Given the description of an element on the screen output the (x, y) to click on. 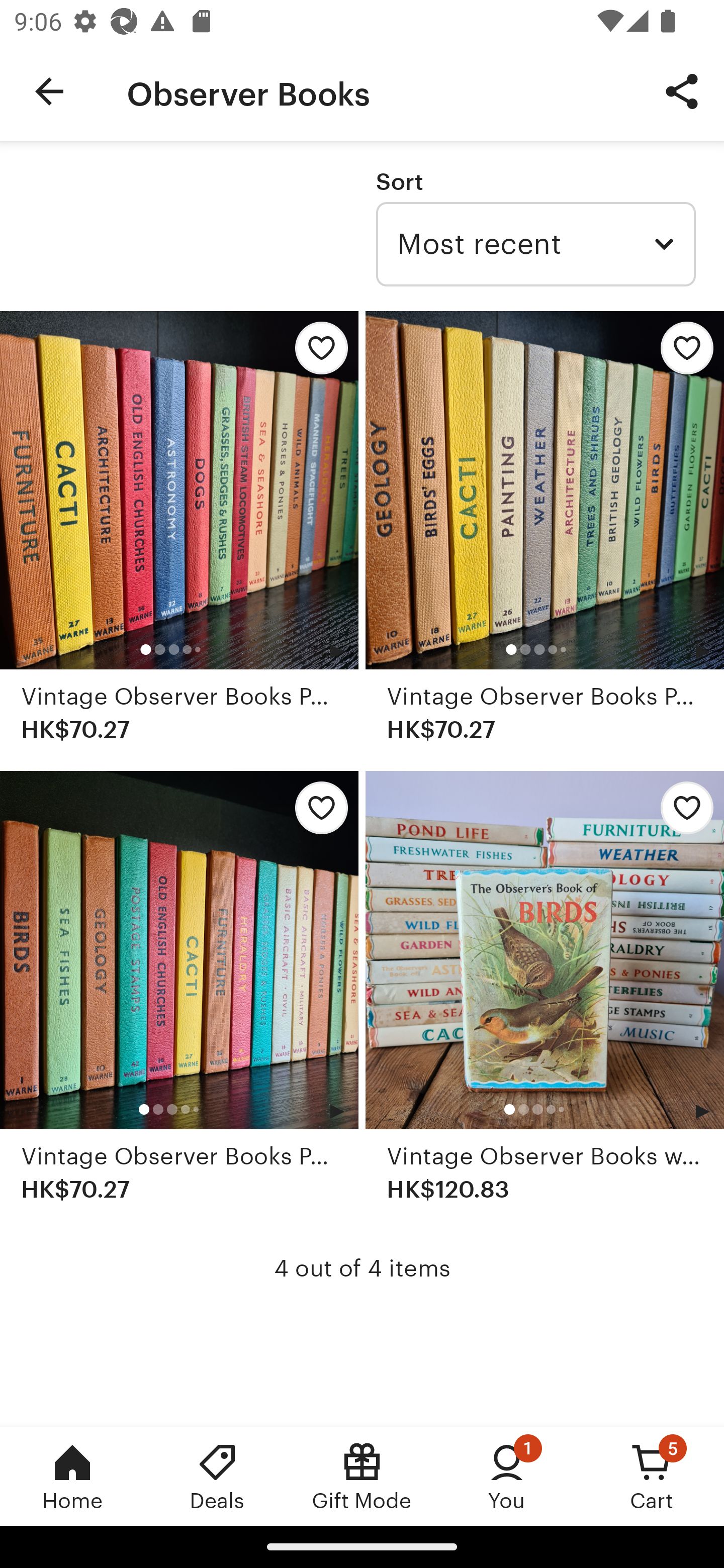
Navigate up (49, 91)
Share Button (681, 90)
Sort (399, 181)
Most recent (535, 244)
Deals (216, 1475)
Gift Mode (361, 1475)
You, 1 new notification You (506, 1475)
Cart, 5 new notifications Cart (651, 1475)
